Given the description of an element on the screen output the (x, y) to click on. 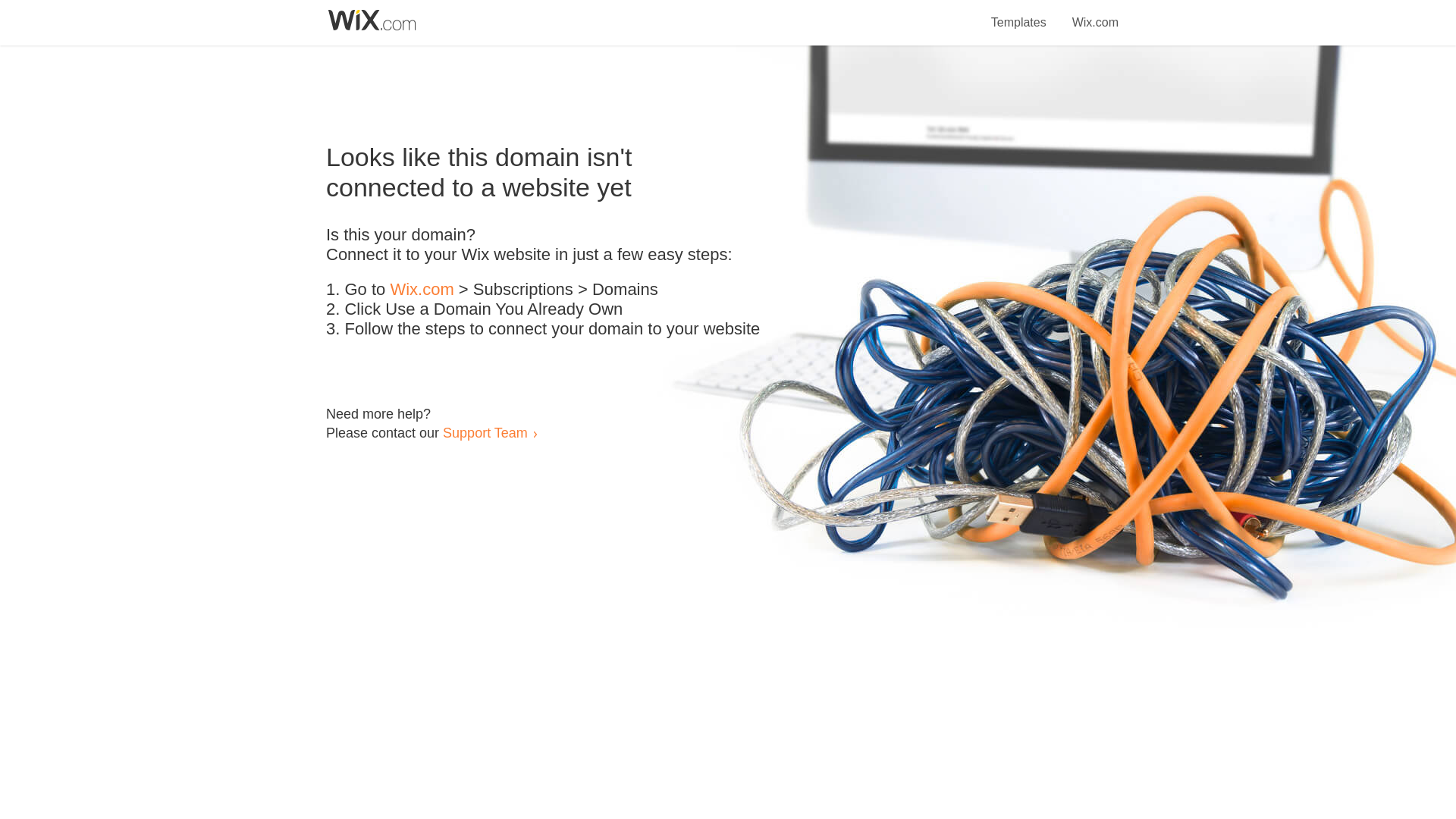
Support Team (484, 432)
Wix.com (1095, 14)
Templates (1018, 14)
Wix.com (421, 289)
